Given the description of an element on the screen output the (x, y) to click on. 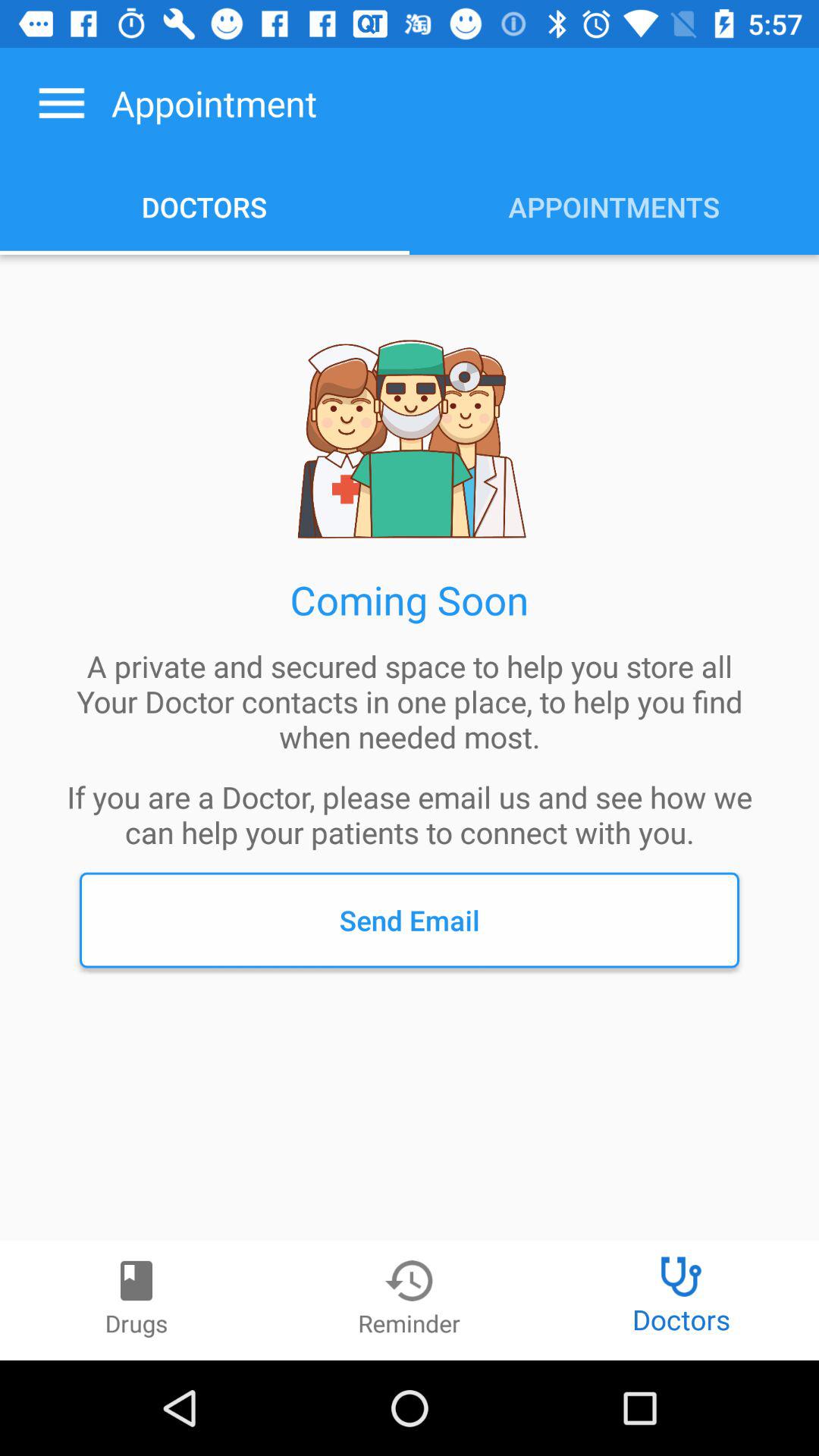
launch send email item (409, 920)
